Given the description of an element on the screen output the (x, y) to click on. 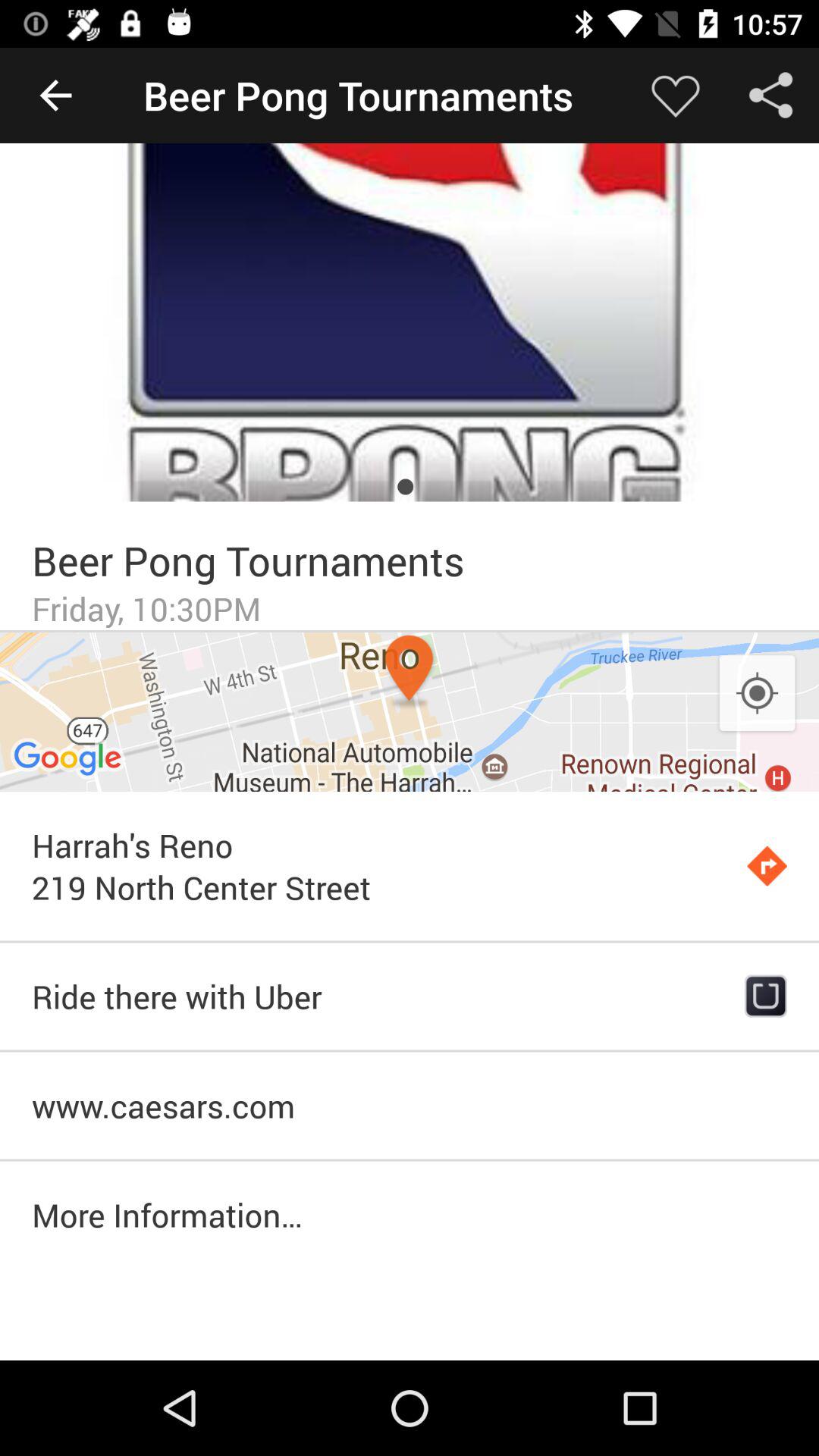
open the item next to beer pong tournaments icon (55, 95)
